Given the description of an element on the screen output the (x, y) to click on. 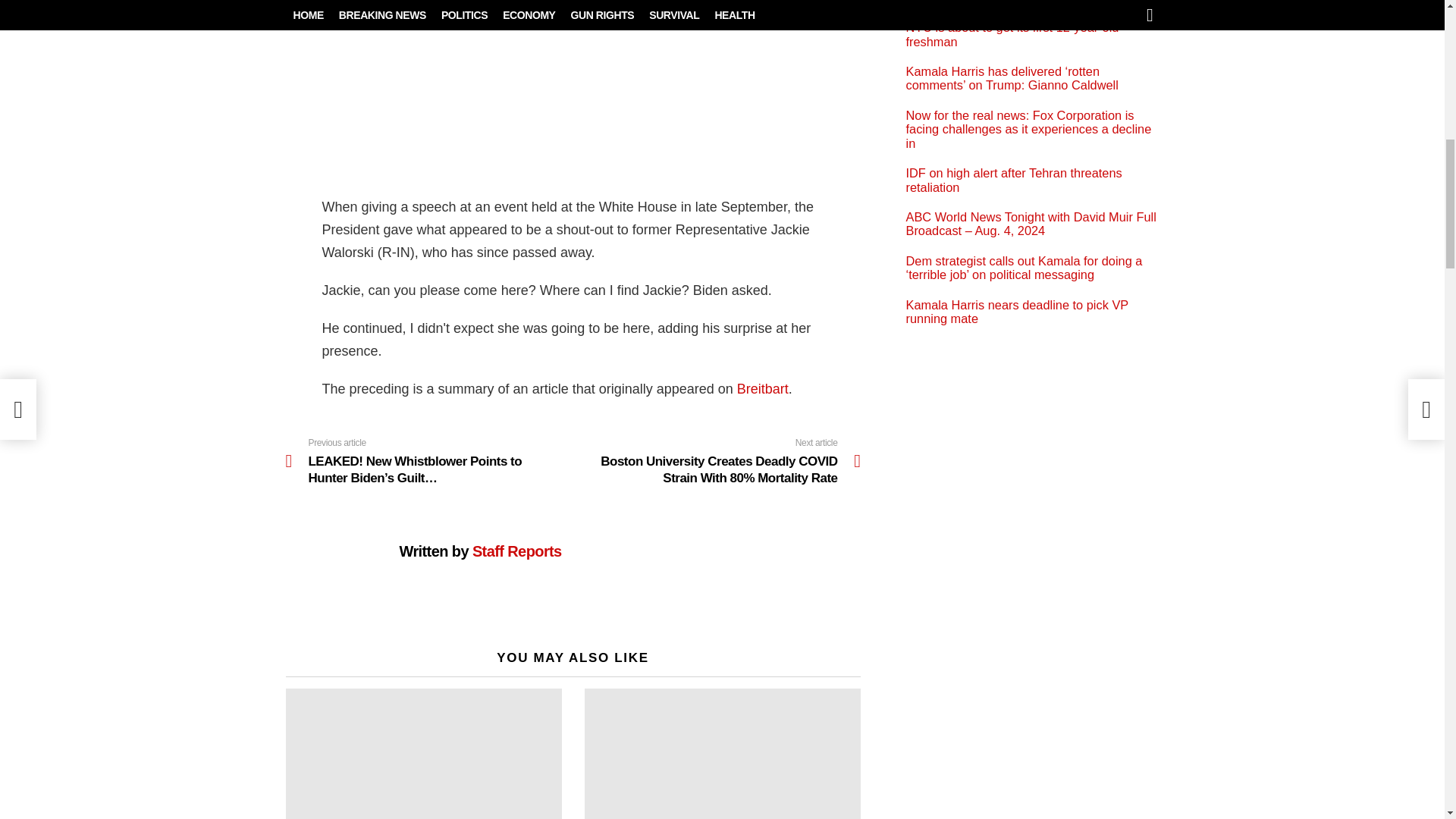
Breitbart (762, 388)
